Given the description of an element on the screen output the (x, y) to click on. 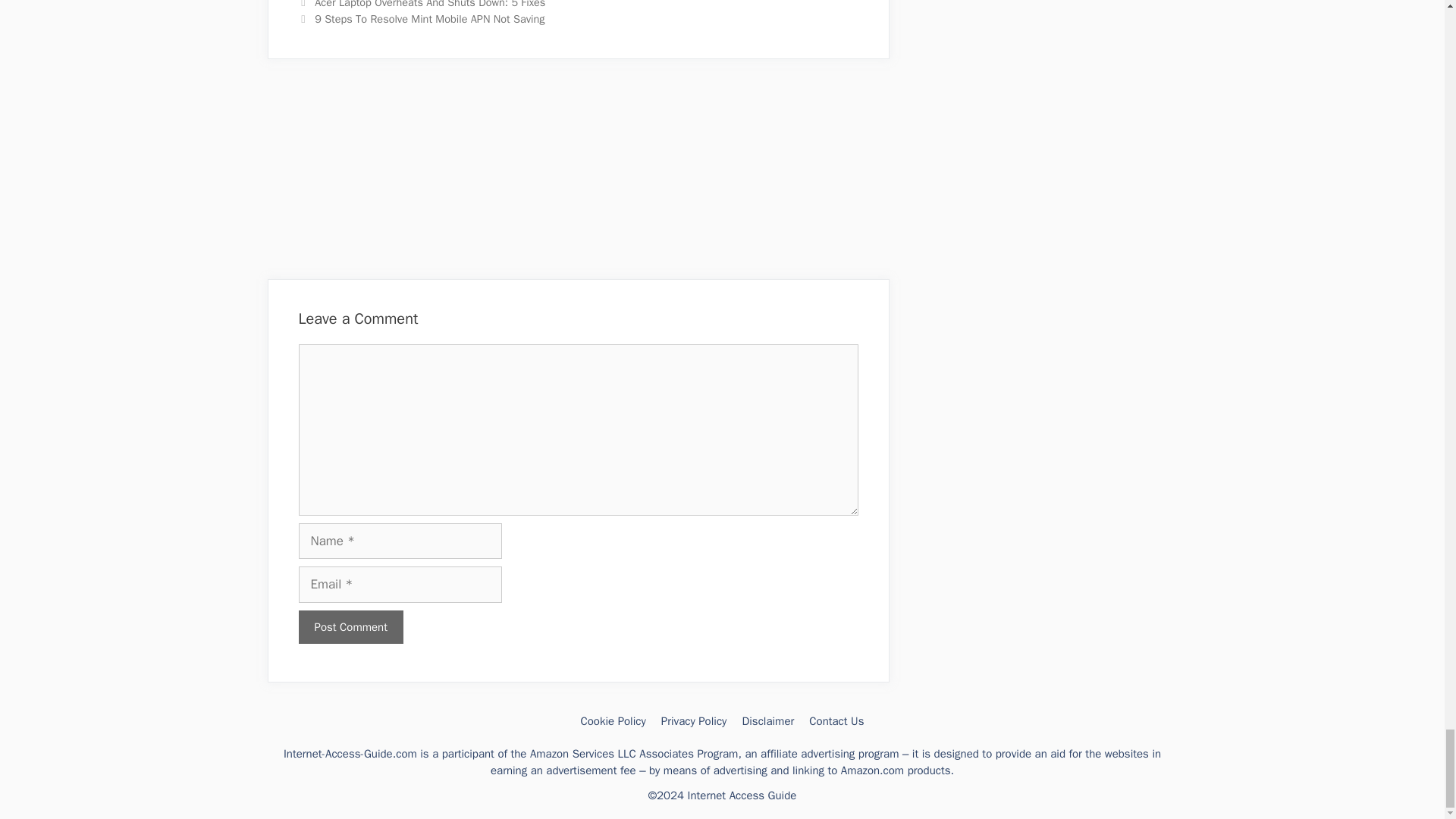
Post Comment (350, 627)
Previous (422, 4)
Next (421, 18)
